Given the description of an element on the screen output the (x, y) to click on. 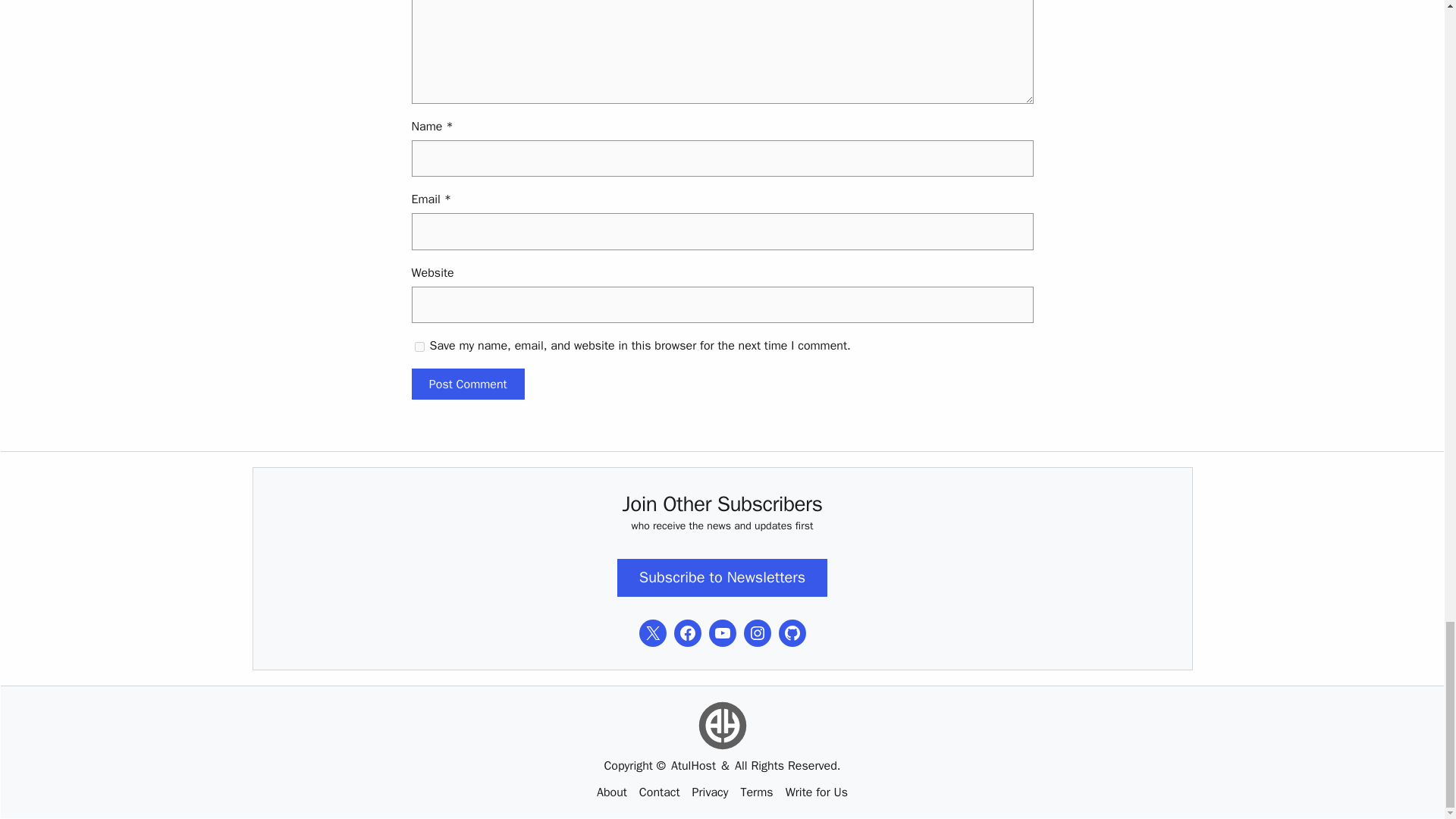
Subscribe to Newsletters (722, 577)
Post Comment (467, 383)
AtulHost on X (652, 633)
Post Comment (467, 383)
